Given the description of an element on the screen output the (x, y) to click on. 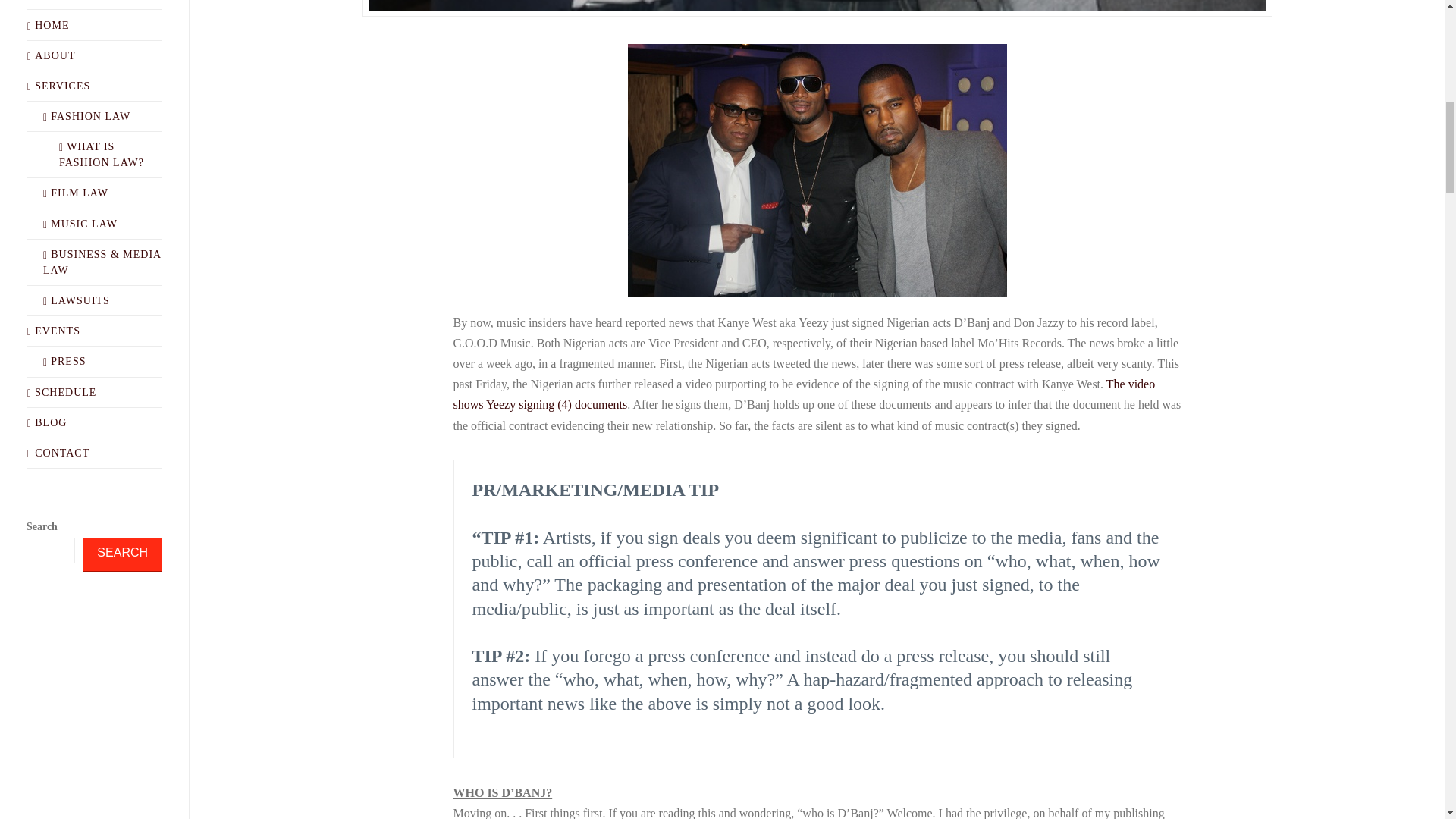
LA Reid DBanj Kanye West (817, 170)
